Given the description of an element on the screen output the (x, y) to click on. 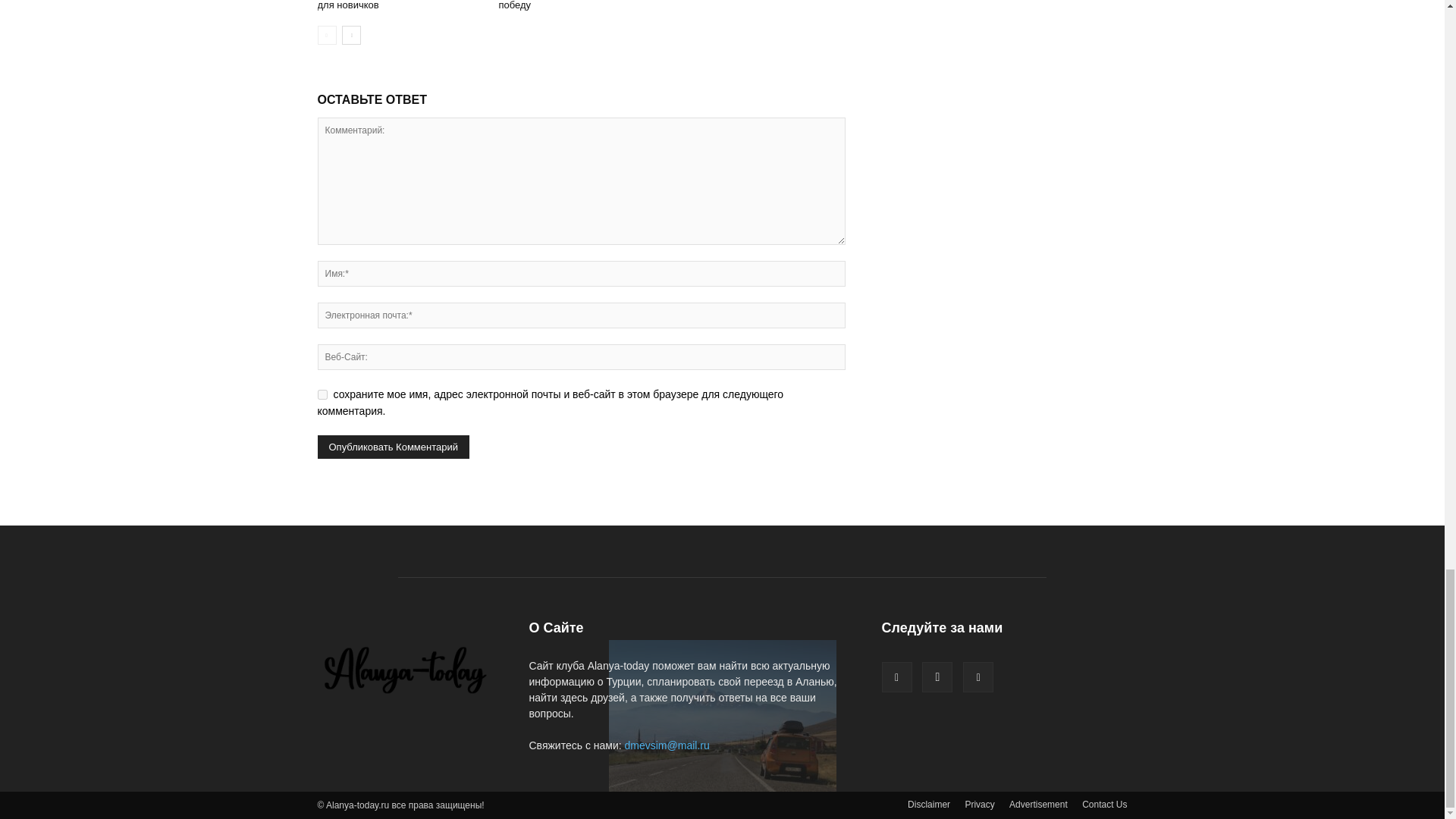
yes (321, 394)
